Given the description of an element on the screen output the (x, y) to click on. 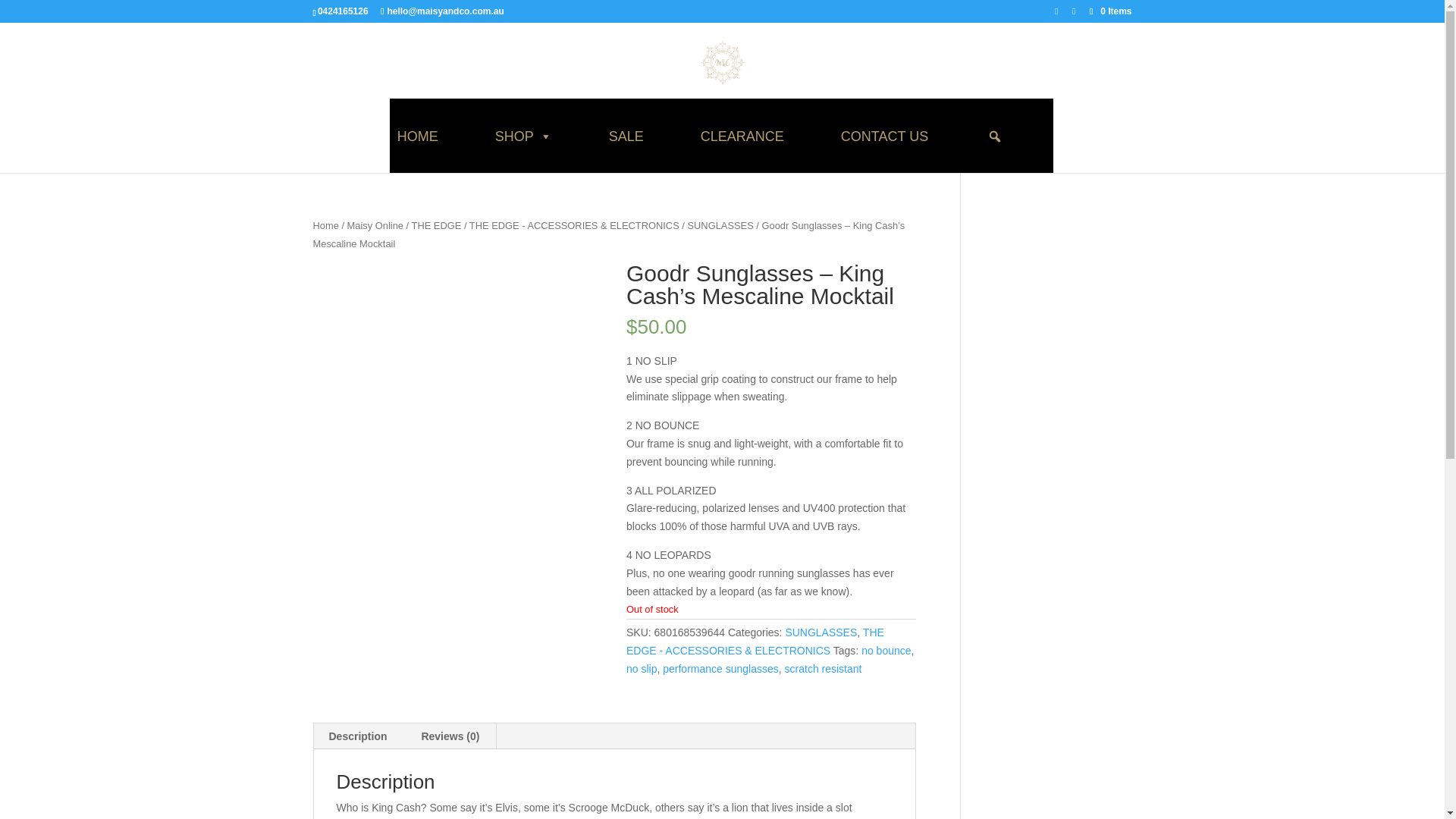
SHOP (523, 136)
0 Items (1108, 10)
HOME (417, 136)
